Given the description of an element on the screen output the (x, y) to click on. 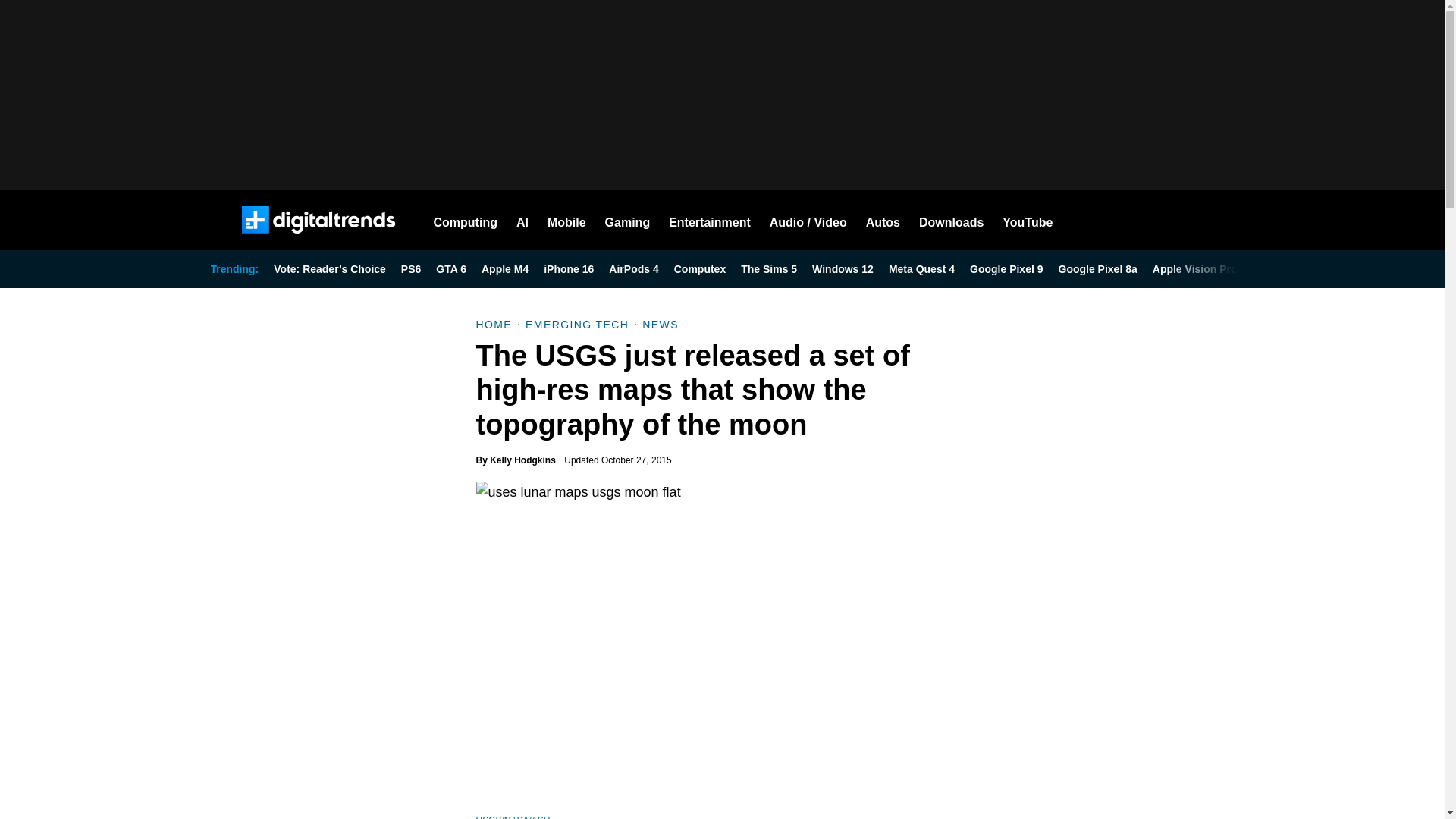
Computing (465, 219)
Entertainment (709, 219)
Downloads (951, 219)
